Given the description of an element on the screen output the (x, y) to click on. 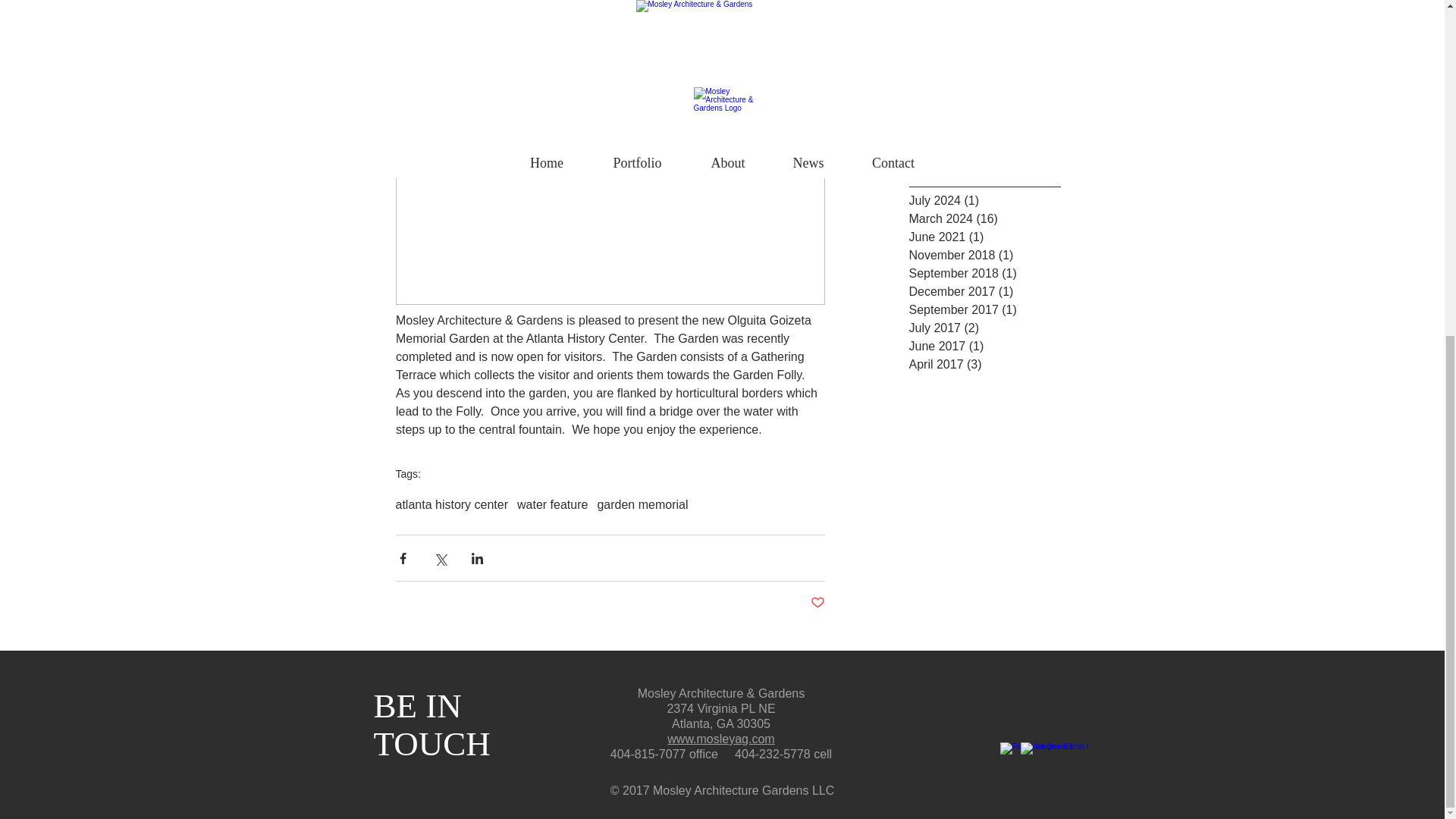
A Garden Landscape in Cashiers (986, 135)
An East Hampton, NY Estate (986, 49)
water feature (552, 504)
Post not marked as liked (816, 602)
A Marietta Residence and Gardens (986, 92)
atlanta history center (452, 504)
A Modern Cottage at Rosemary Beach (986, 13)
garden memorial (641, 504)
www.mosleyag.com (720, 738)
